Given the description of an element on the screen output the (x, y) to click on. 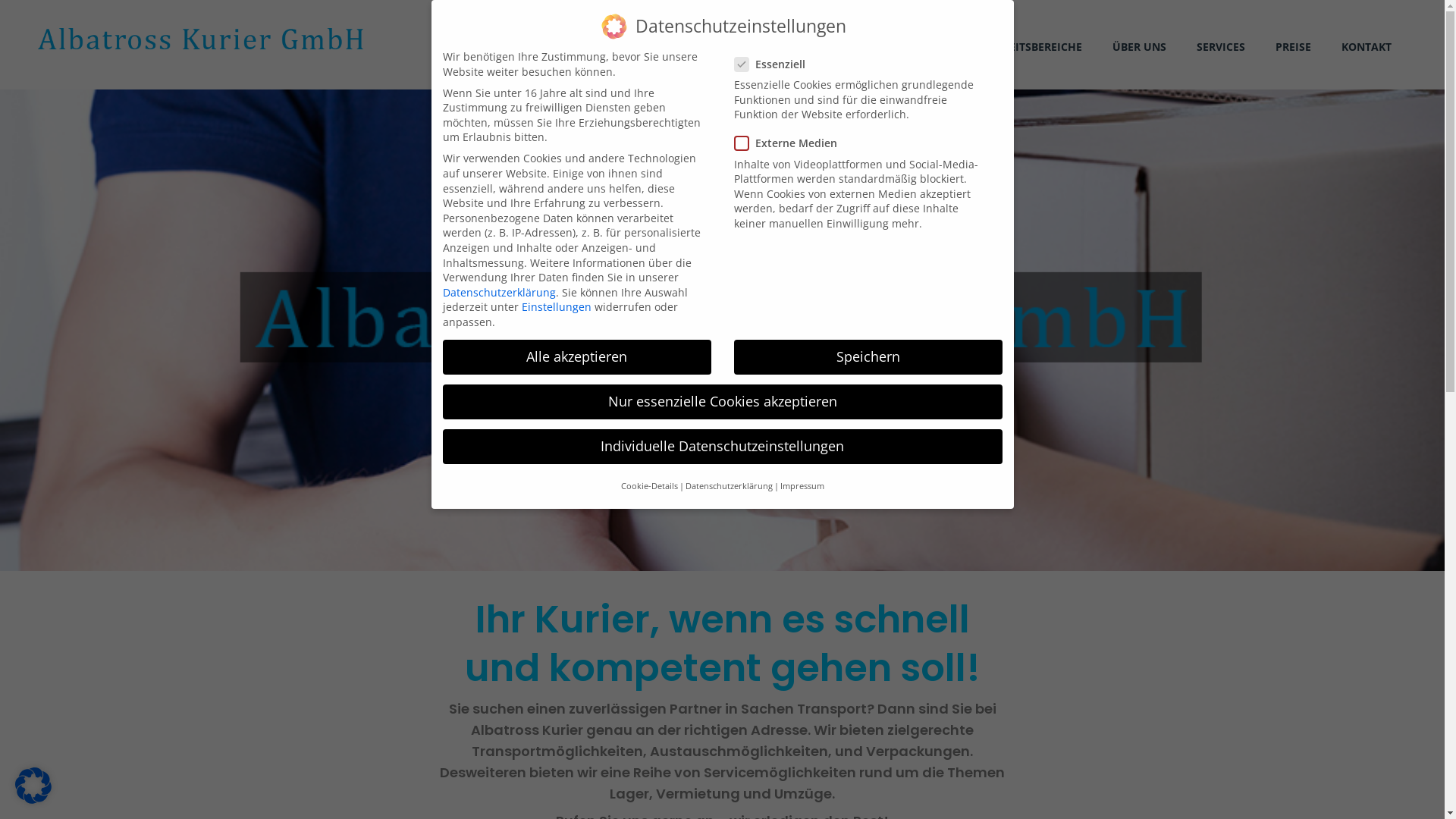
Alle akzeptieren Element type: text (576, 356)
KONTAKT Element type: text (1373, 59)
Impressum Element type: text (801, 485)
START Element type: text (948, 59)
ARBEITSBEREICHE Element type: text (1042, 59)
Speichern Element type: text (868, 356)
PREISE Element type: text (1300, 59)
Nur essenzielle Cookies akzeptieren Element type: text (722, 401)
SERVICES Element type: text (1228, 59)
Individuelle Datenschutzeinstellungen Element type: text (722, 446)
Einstellungen Element type: text (556, 306)
Cookie-Details Element type: text (648, 485)
